Given the description of an element on the screen output the (x, y) to click on. 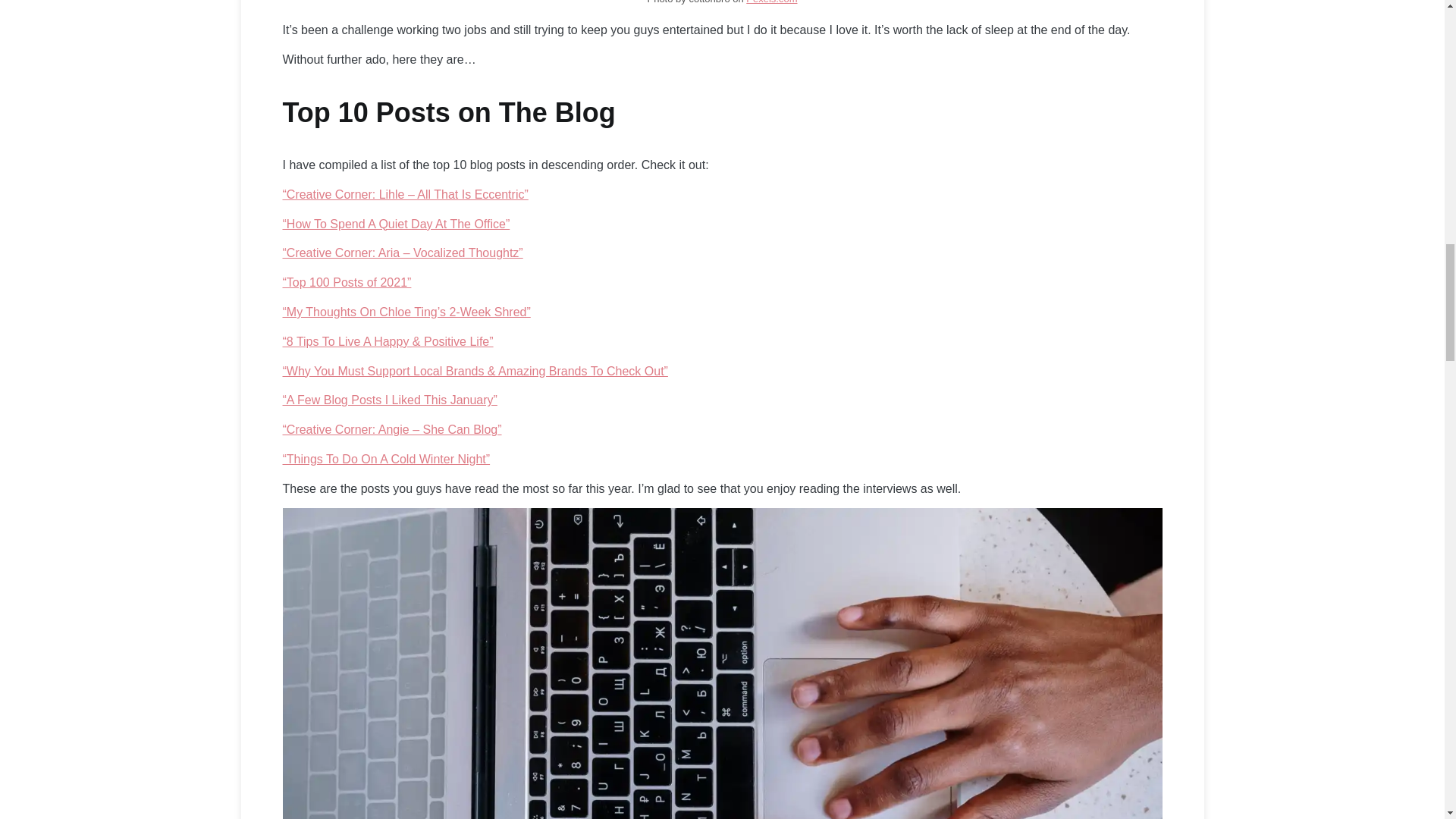
Pexels.com (770, 2)
